Given the description of an element on the screen output the (x, y) to click on. 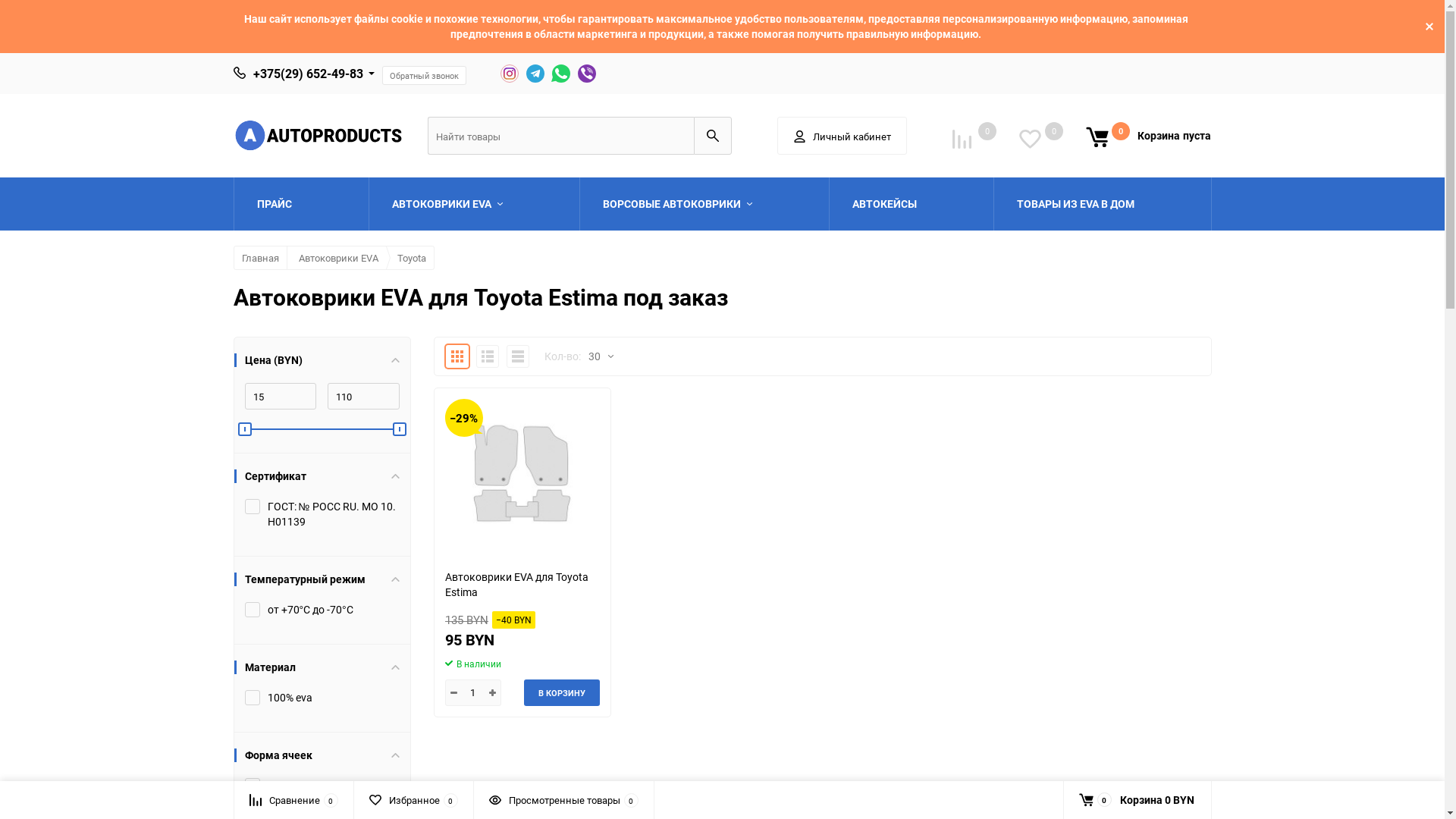
Toyota Element type: text (411, 257)
+375(29) 652-49-83 Element type: text (308, 73)
